Given the description of an element on the screen output the (x, y) to click on. 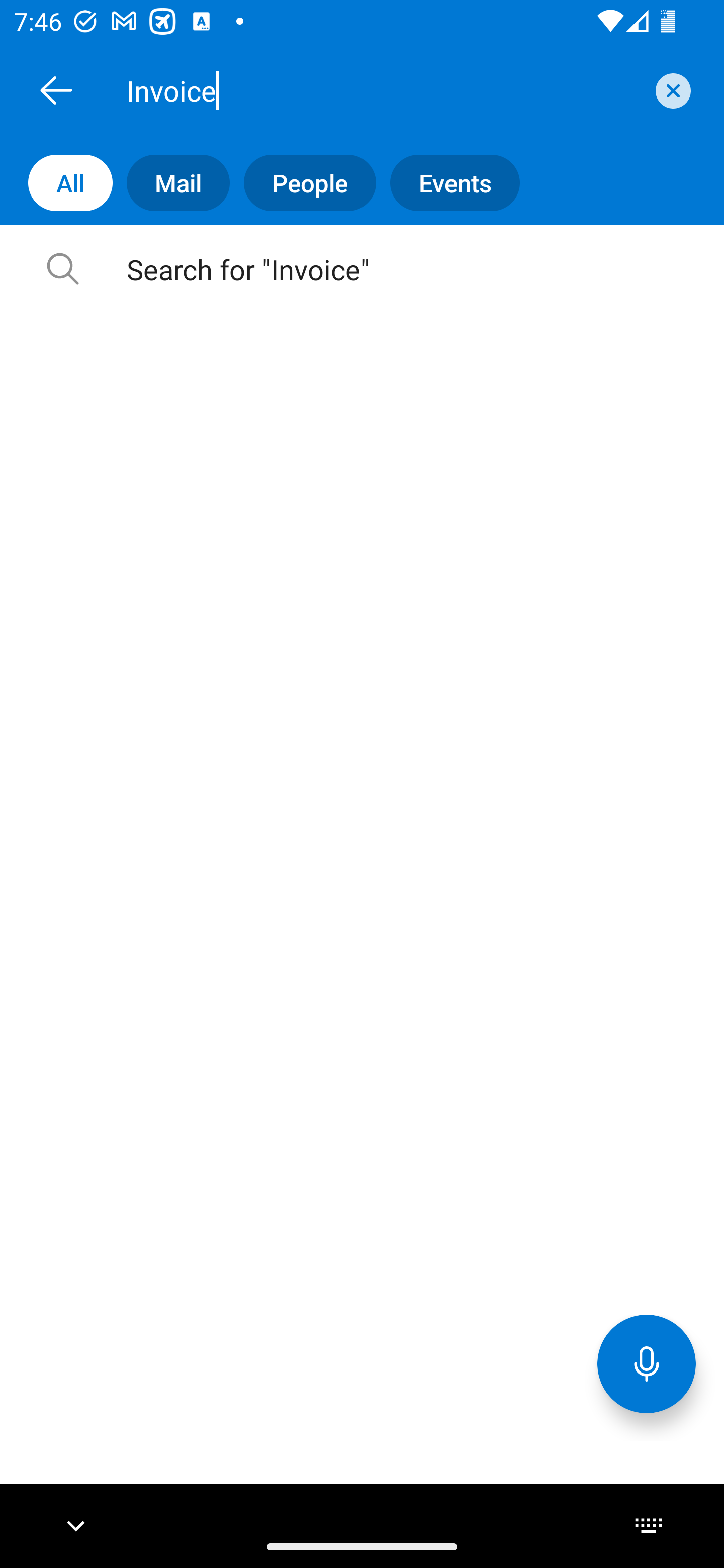
Back (55, 89)
Invoice (384, 89)
clear search (670, 90)
Mail (170, 183)
People (302, 183)
Events (447, 183)
Voice Assistant (646, 1362)
